Given the description of an element on the screen output the (x, y) to click on. 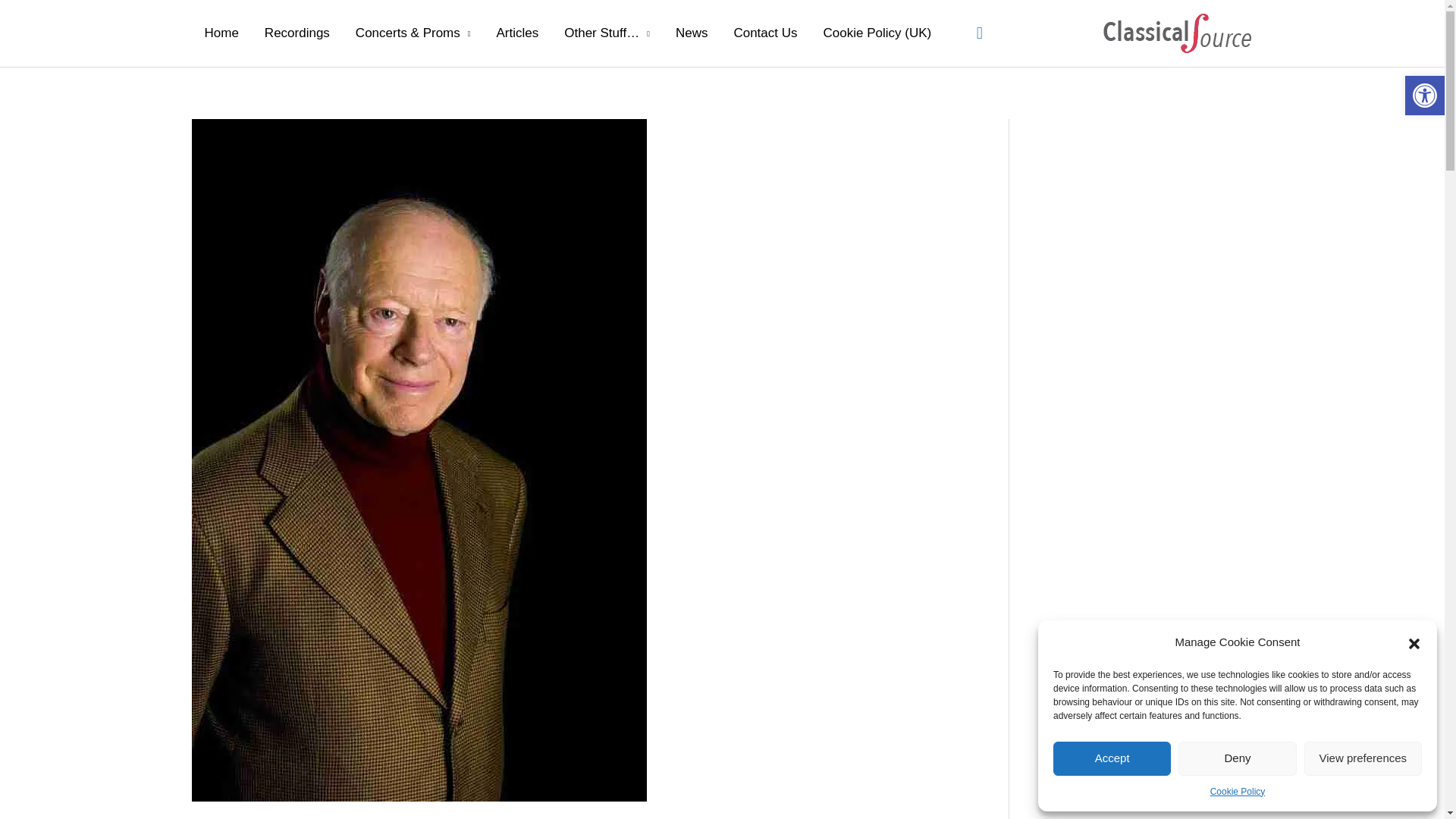
Articles (517, 33)
Recordings (296, 33)
Cookie Policy (1237, 791)
View preferences (1363, 758)
Deny (1236, 758)
Accept (1111, 758)
Accessibility Tools (1424, 95)
Home (220, 33)
